Given the description of an element on the screen output the (x, y) to click on. 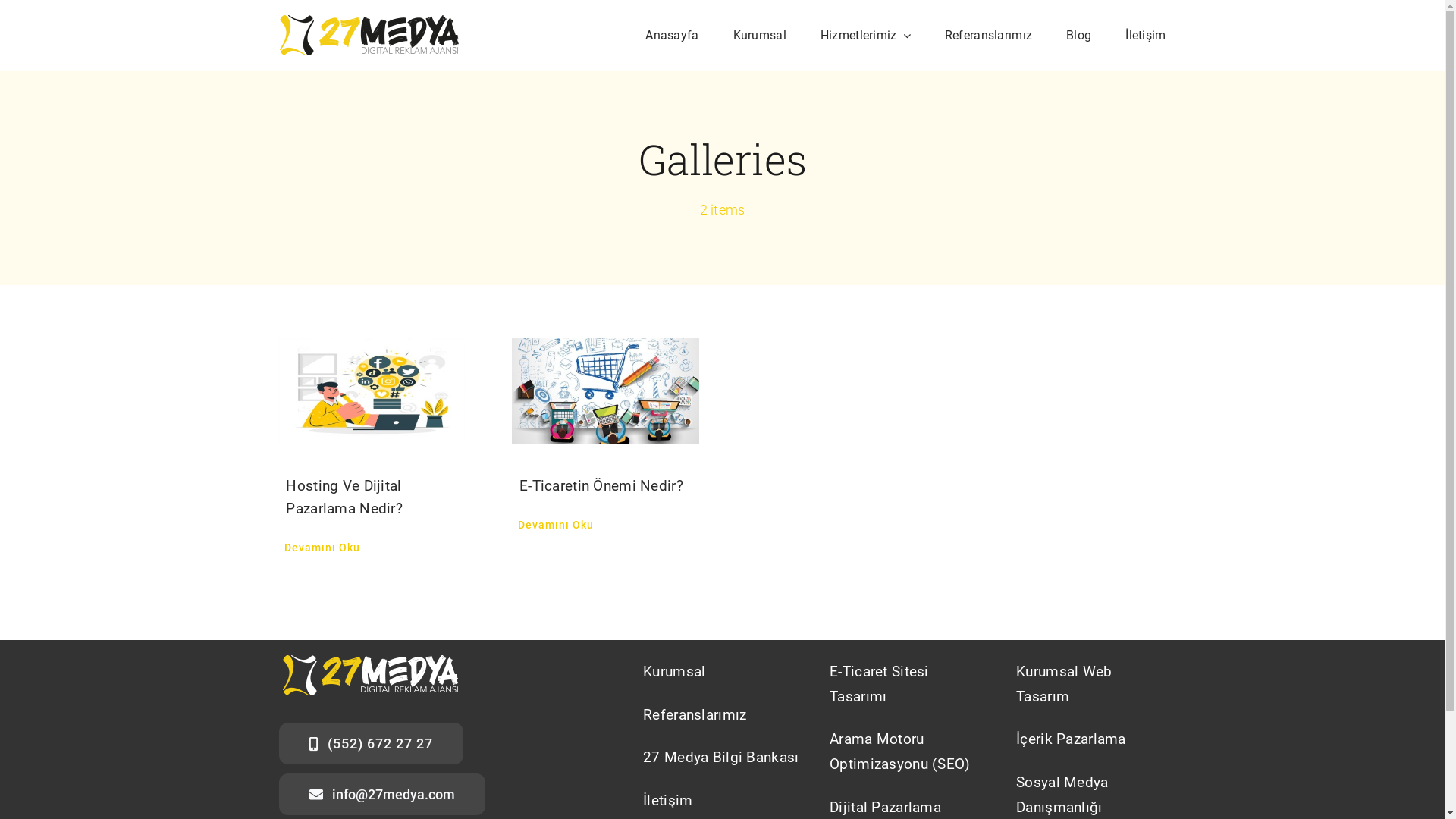
Hosting Ve Dijital Pazarlama Nedir? Element type: text (343, 496)
Kurumsal Element type: text (722, 672)
27medyabeyaz Element type: hover (370, 675)
(552) 672 27 27 Element type: text (371, 743)
Arama Motoru Optimizasyonu (SEO) Element type: text (908, 752)
Hizmetlerimiz Element type: text (865, 34)
Kurumsal Element type: text (759, 34)
Anasayfa Element type: text (671, 34)
Hosting Ve Dijital Pazarlama Nedir? Element type: hover (372, 391)
info@27medya.com Element type: text (382, 794)
Blog Element type: text (1078, 34)
